Given the description of an element on the screen output the (x, y) to click on. 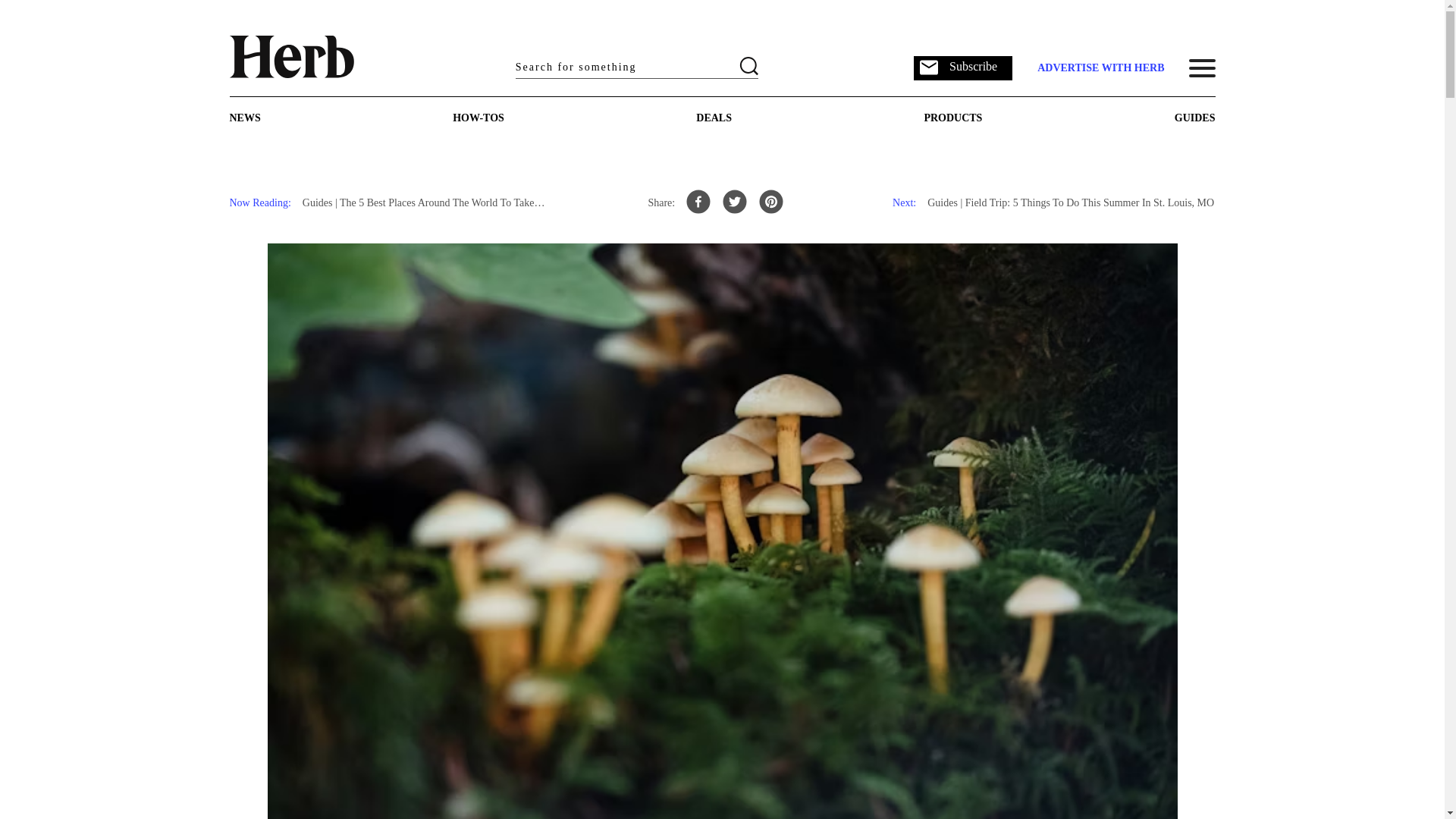
Subscribe (962, 67)
ADVERTISE WITH HERB (1099, 68)
